Given the description of an element on the screen output the (x, y) to click on. 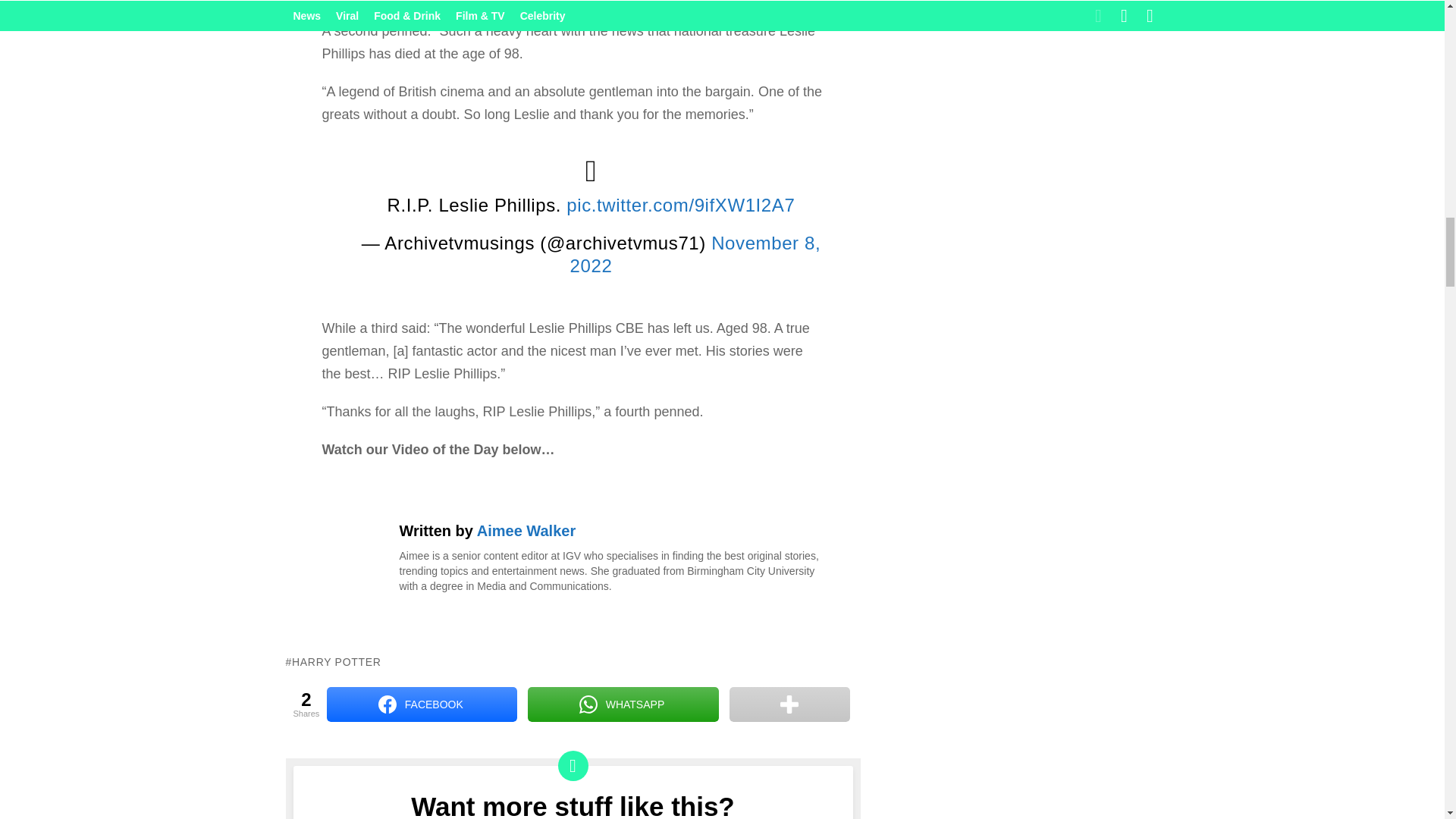
Share on Facebook (421, 704)
Share on WhatsApp (622, 704)
Share on More Button (789, 704)
